Given the description of an element on the screen output the (x, y) to click on. 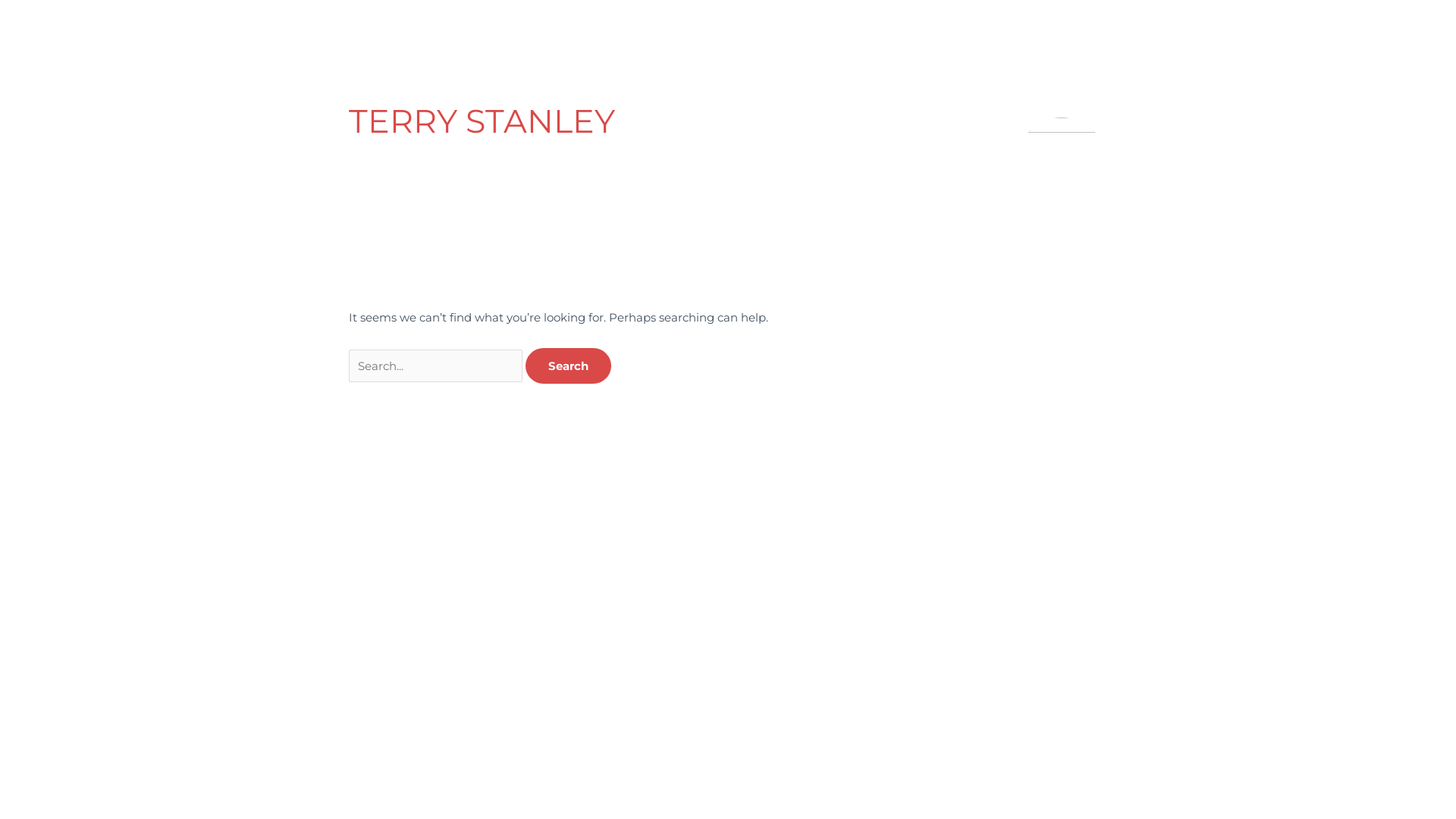
Search Element type: text (568, 365)
